Given the description of an element on the screen output the (x, y) to click on. 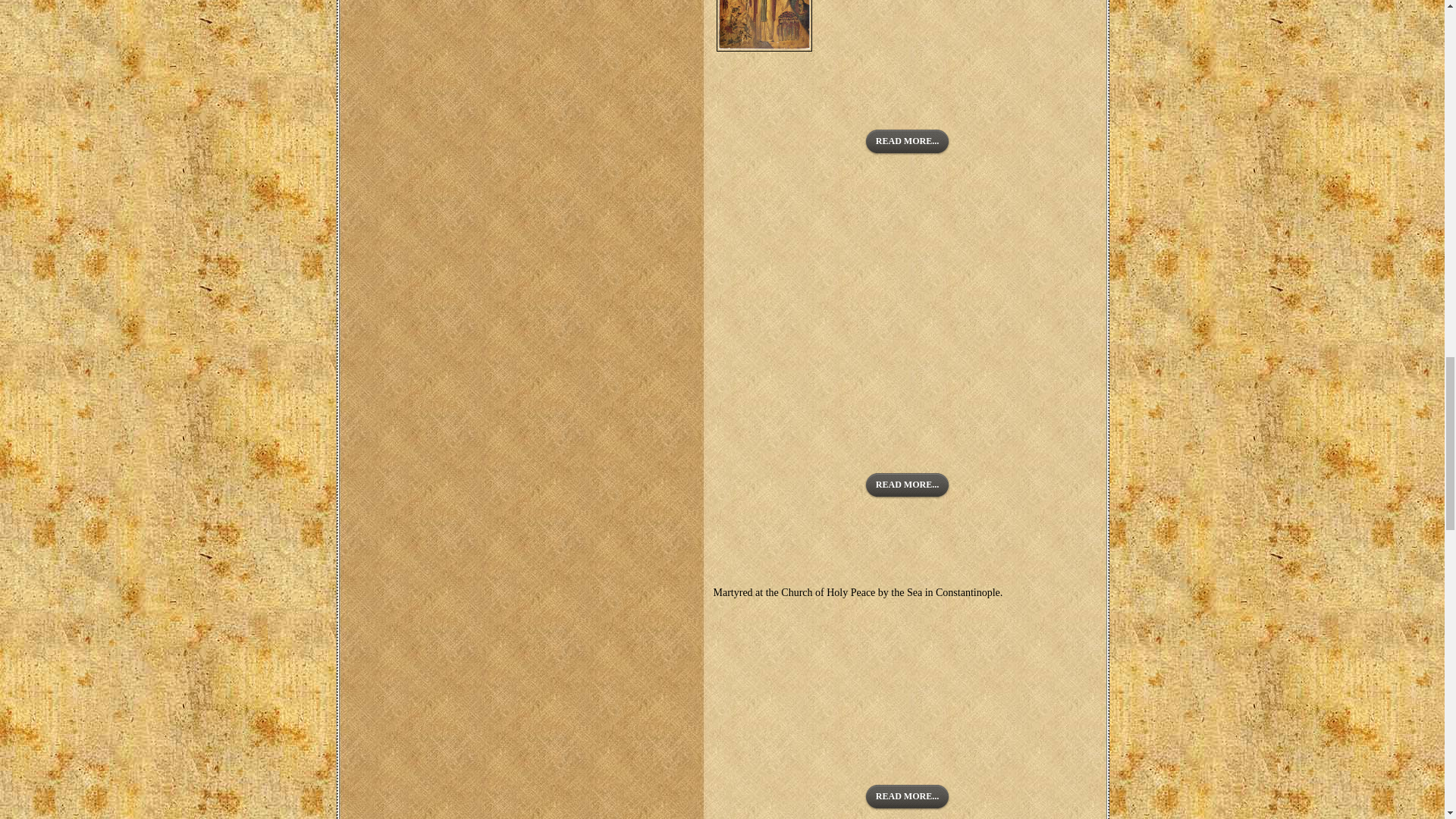
READ MORE... (907, 485)
READ MORE... (907, 796)
READ MORE... (907, 141)
